Given the description of an element on the screen output the (x, y) to click on. 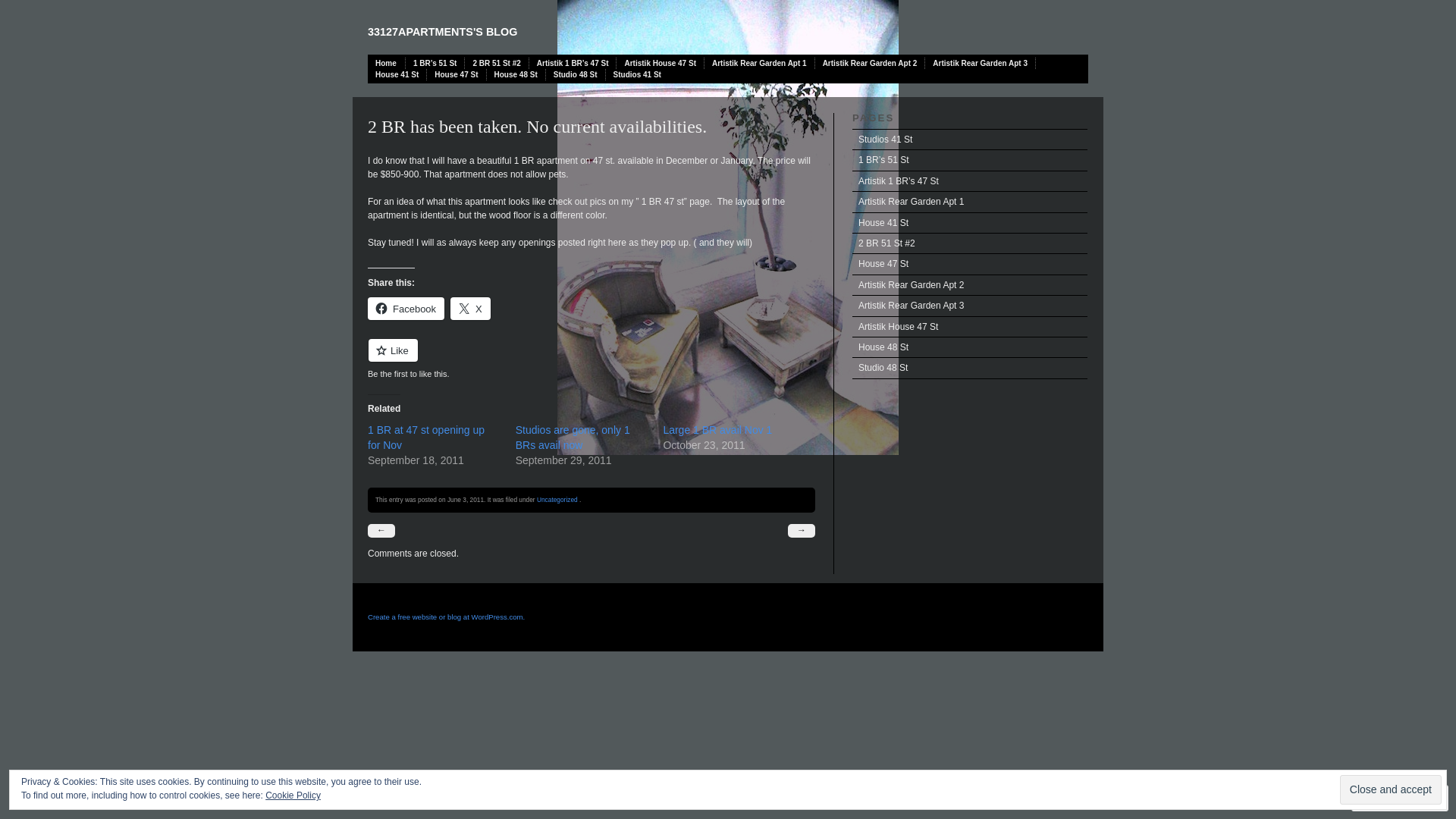
Artistik House 47 St Element type: text (969, 326)
Facebook Element type: text (405, 308)
Studios 41 St Element type: text (636, 74)
Cookie Policy Element type: text (292, 795)
Large 1 BR avail Nov 1 Element type: text (716, 429)
Studio 48 St Element type: text (969, 367)
Studios 41 St Element type: text (969, 139)
House 41 St Element type: text (396, 74)
Artistik Rear Garden Apt 2 Element type: text (870, 63)
X Element type: text (470, 308)
Artistik Rear Garden Apt 1 Element type: text (759, 63)
Artistik Rear Garden Apt 3 Element type: text (980, 63)
Like or Reblog Element type: hover (591, 358)
Studio 48 St Element type: text (575, 74)
House 47 St Element type: text (969, 264)
Studios are gone, only 1 BRs avail now Element type: text (572, 437)
Close and accept Element type: text (1390, 789)
Uncategorized Element type: text (556, 499)
Home Element type: text (386, 63)
Create a free website or blog at WordPress.com. Element type: text (445, 616)
House 47 St Element type: text (456, 74)
House 48 St Element type: text (969, 347)
Artistik Rear Garden Apt 2 Element type: text (969, 285)
House 41 St Element type: text (969, 223)
Artistik Rear Garden Apt 3 Element type: text (969, 305)
1 BR at 47 st opening up for Nov Element type: text (425, 437)
33127APARTMENTS'S BLOG Element type: text (442, 31)
Follow Element type: text (1385, 797)
2 BR 51 St #2 Element type: text (496, 63)
Artistik House 47 St Element type: text (659, 63)
Artistik Rear Garden Apt 1 Element type: text (969, 201)
2 BR 51 St #2 Element type: text (969, 243)
House 48 St Element type: text (516, 74)
